Given the description of an element on the screen output the (x, y) to click on. 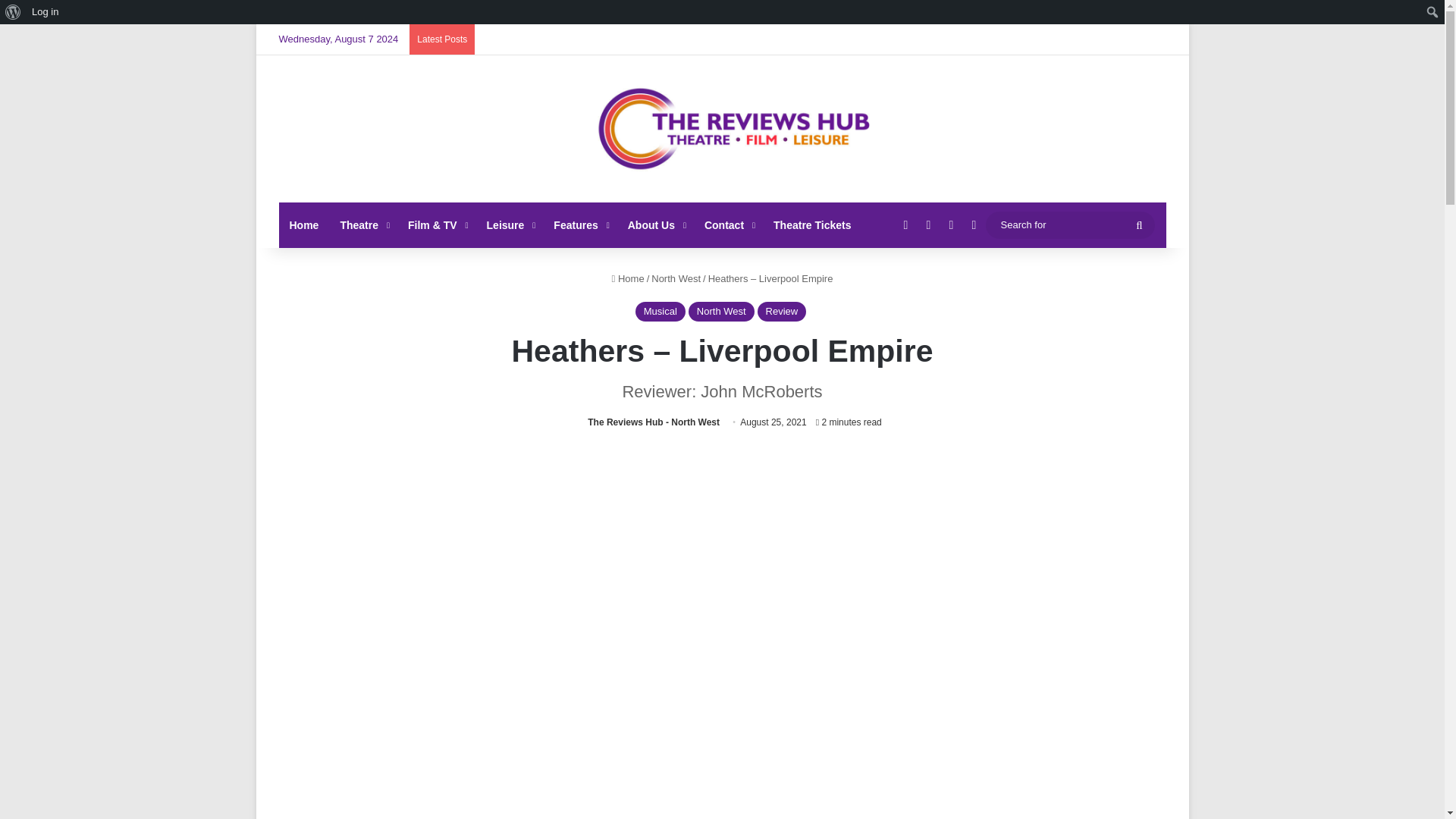
Log in (45, 12)
Search (11, 12)
Leisure (509, 225)
Search for (1069, 224)
Features (579, 225)
Home (304, 225)
The Reviews Hub (722, 128)
The Reviews Hub - North West (653, 421)
Theatre (363, 225)
